Given the description of an element on the screen output the (x, y) to click on. 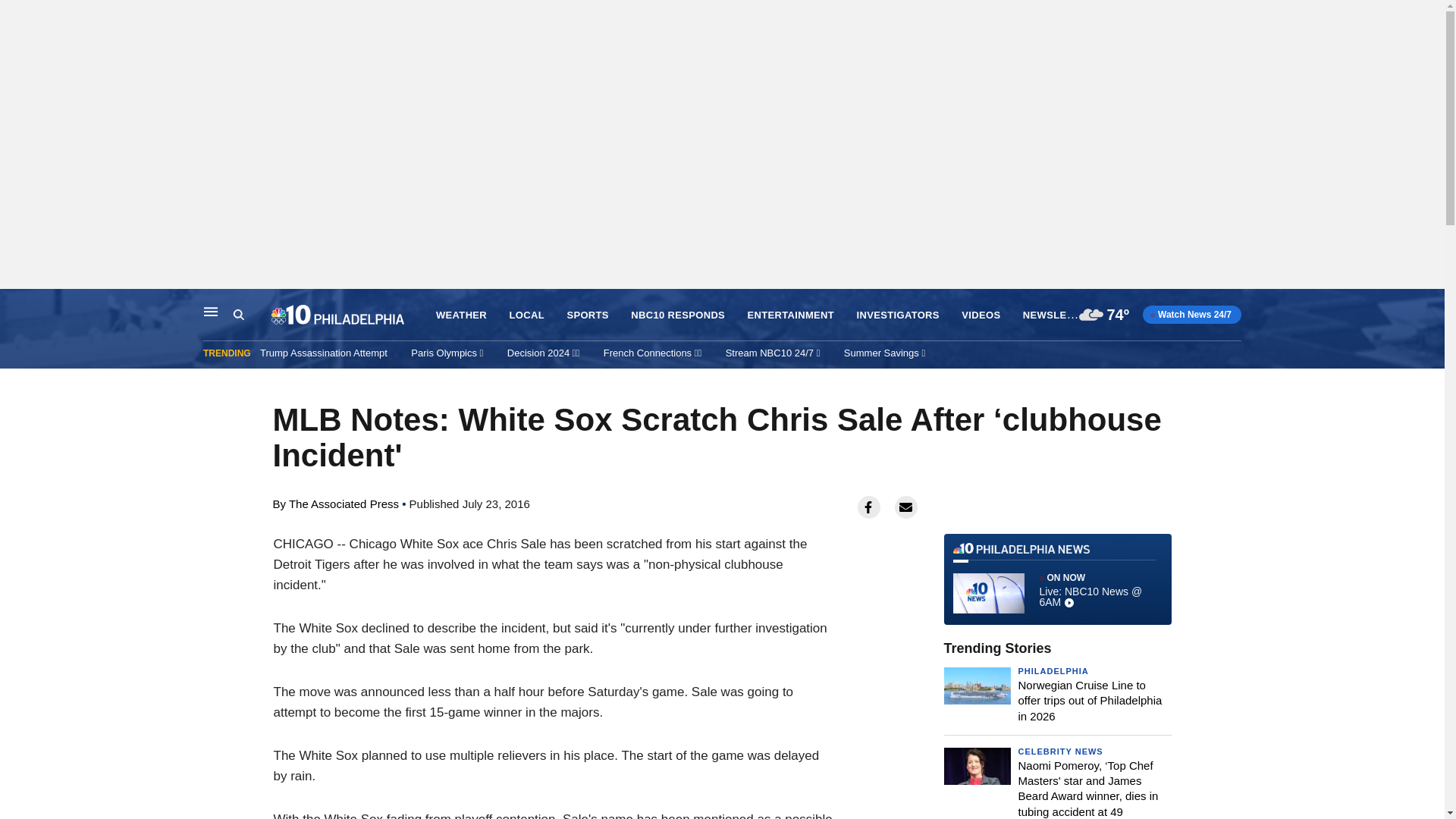
Search (238, 314)
Main Navigation (210, 311)
Skip to content (16, 304)
INVESTIGATORS (898, 315)
WEATHER (460, 315)
Search (252, 314)
LOCAL (526, 315)
SPORTS (587, 315)
NBC10 RESPONDS (677, 315)
VIDEOS (980, 315)
NEWSLETTERS (1061, 314)
ENTERTAINMENT (791, 315)
Trump Assassination Attempt (323, 352)
